Given the description of an element on the screen output the (x, y) to click on. 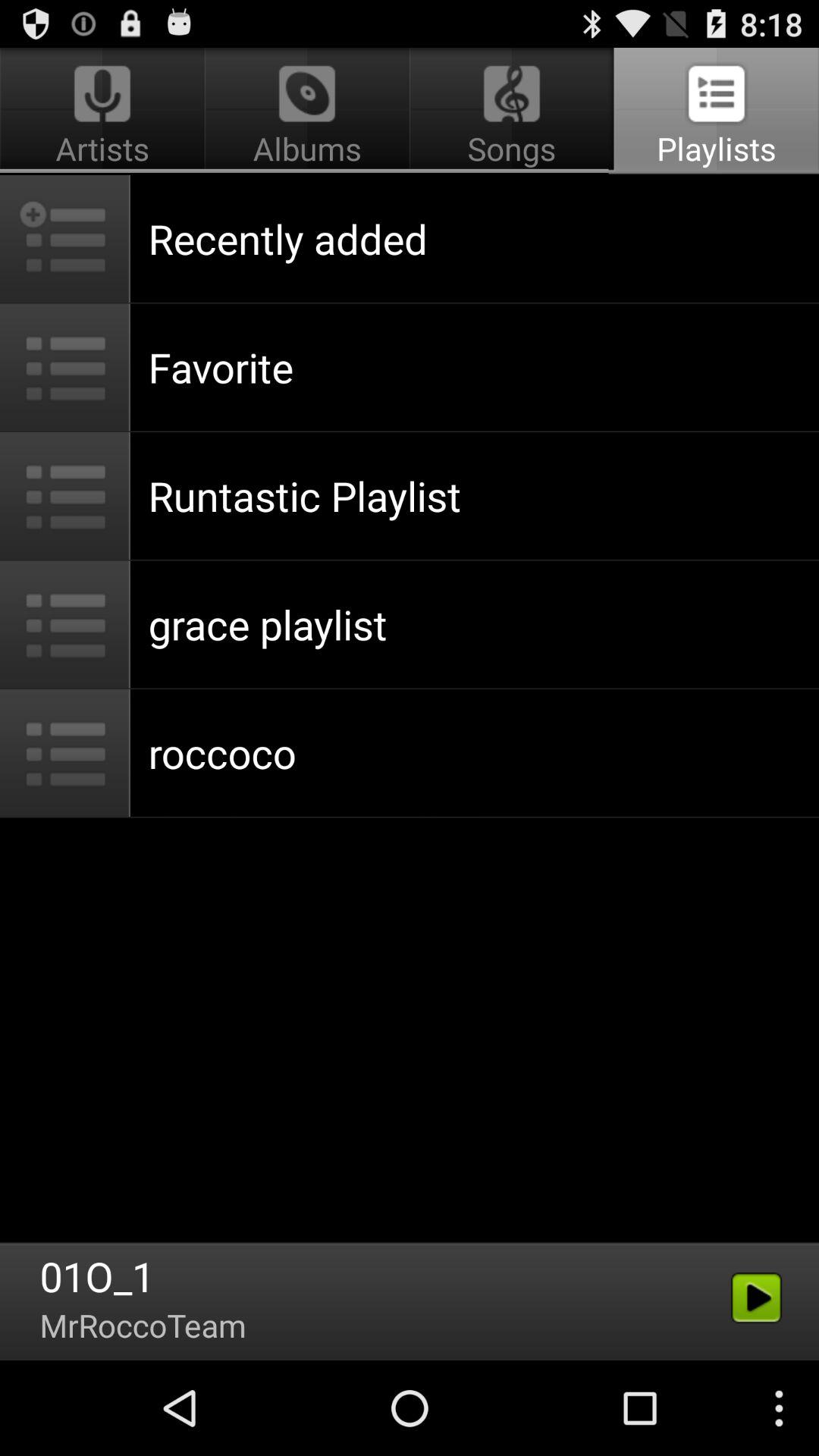
launch the app to the right of artists icon (511, 111)
